Given the description of an element on the screen output the (x, y) to click on. 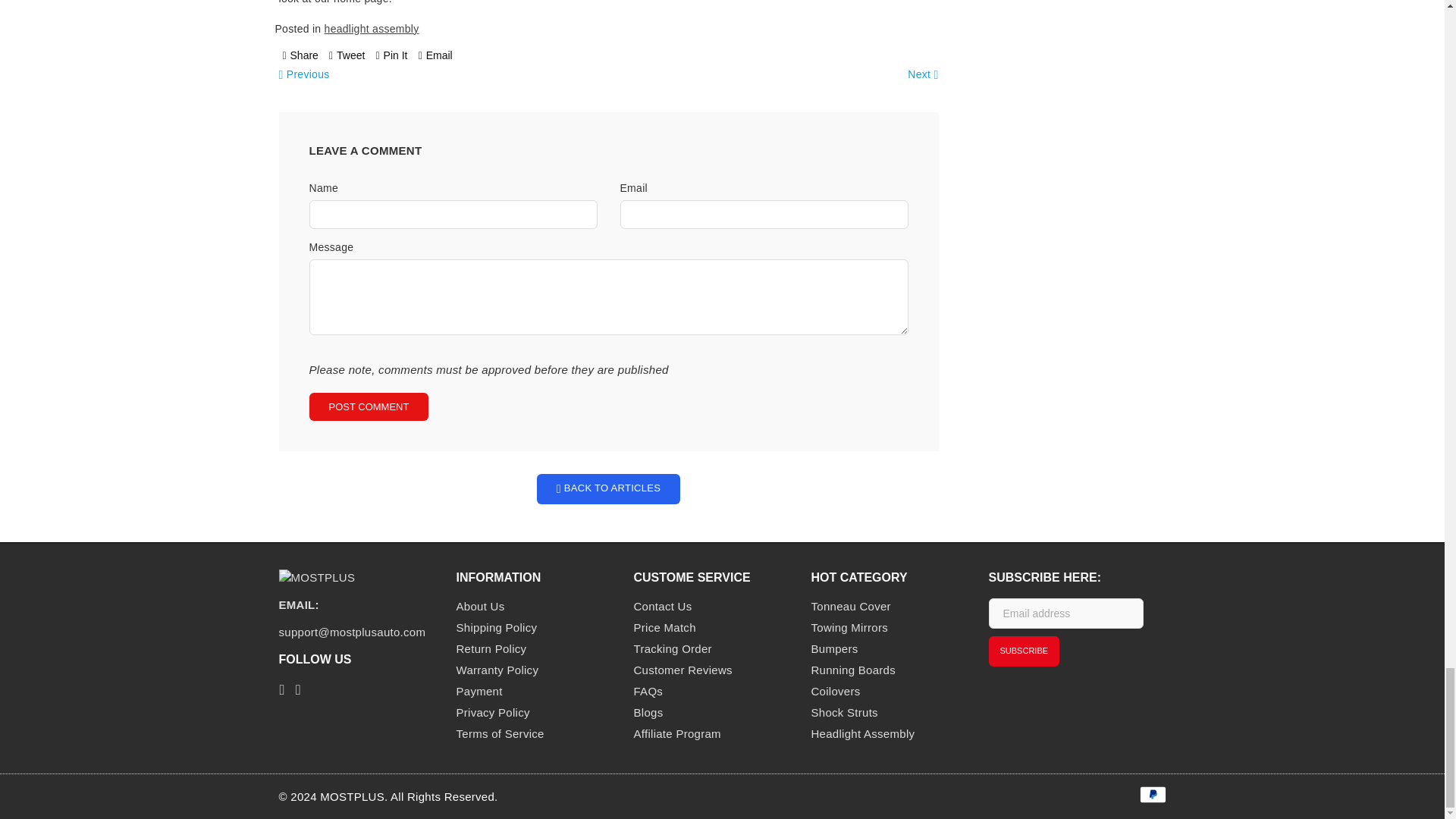
Share by Email (435, 55)
Post comment (368, 406)
Share on Facebook (299, 55)
Pin on Pinterest (391, 55)
Tweet on Twitter (347, 55)
PayPal (1152, 794)
MOSTPLUS on Facebook (282, 688)
MOSTPLUS on Instagram (297, 688)
